Given the description of an element on the screen output the (x, y) to click on. 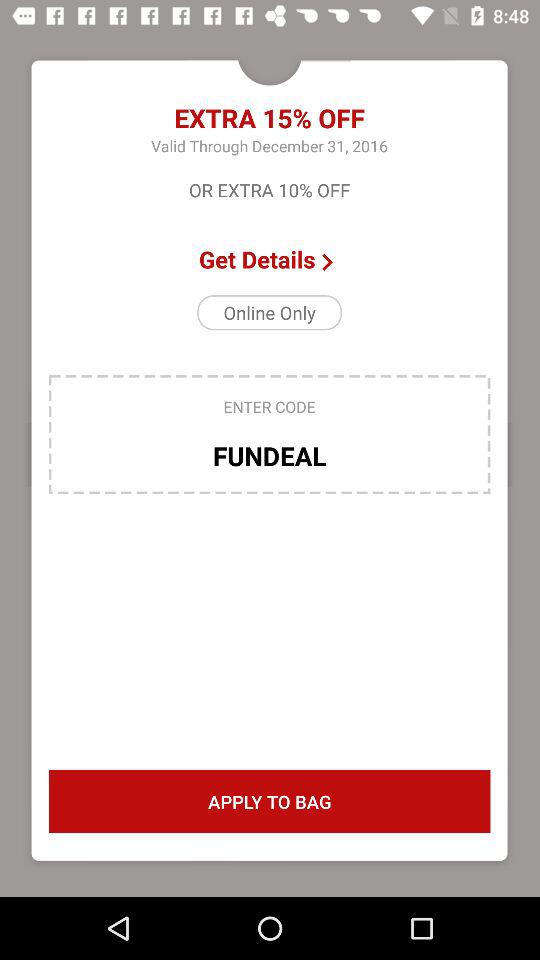
turn on icon below the fundeal item (269, 801)
